Given the description of an element on the screen output the (x, y) to click on. 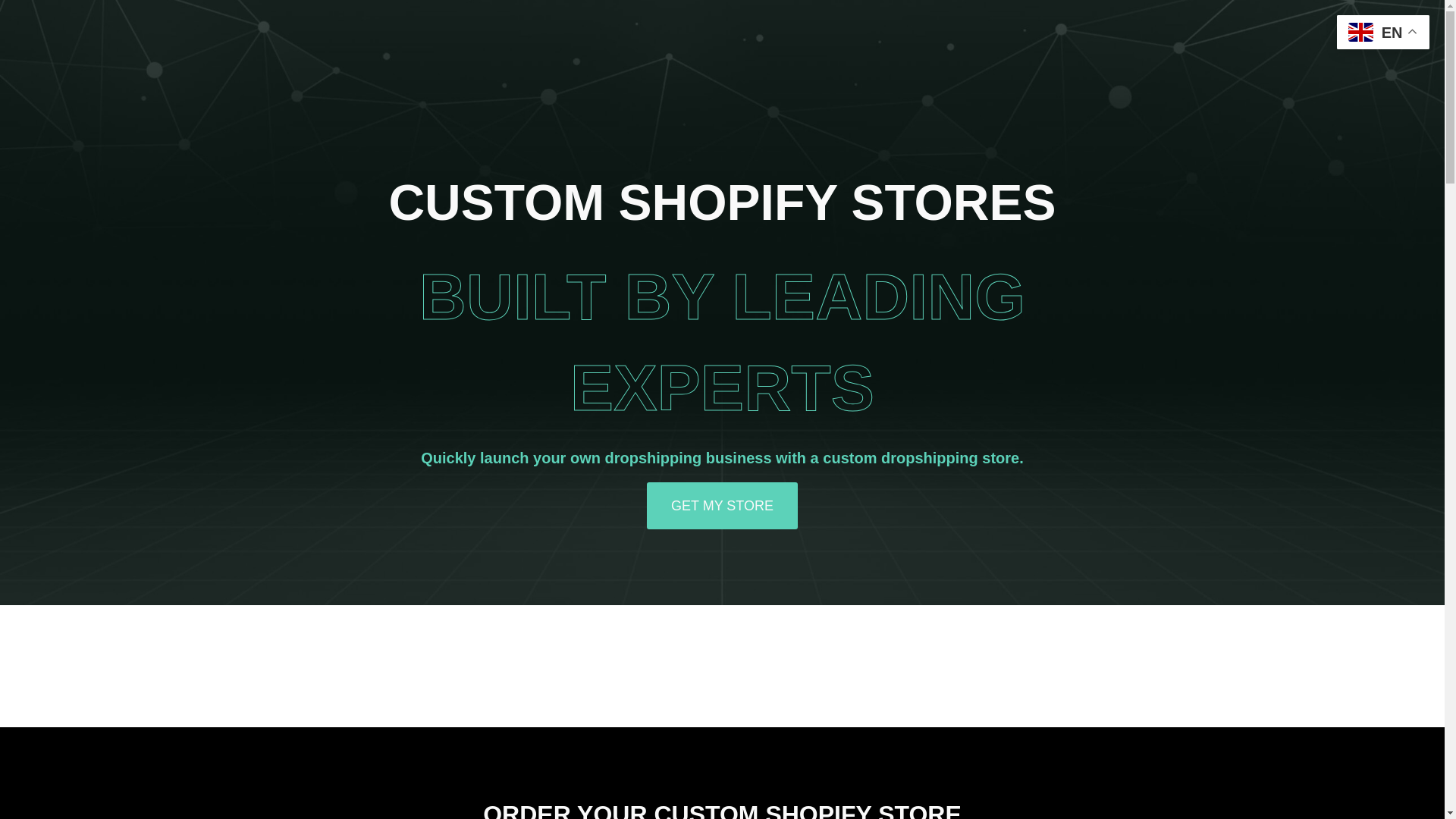
GET MY STORE (721, 505)
